Given the description of an element on the screen output the (x, y) to click on. 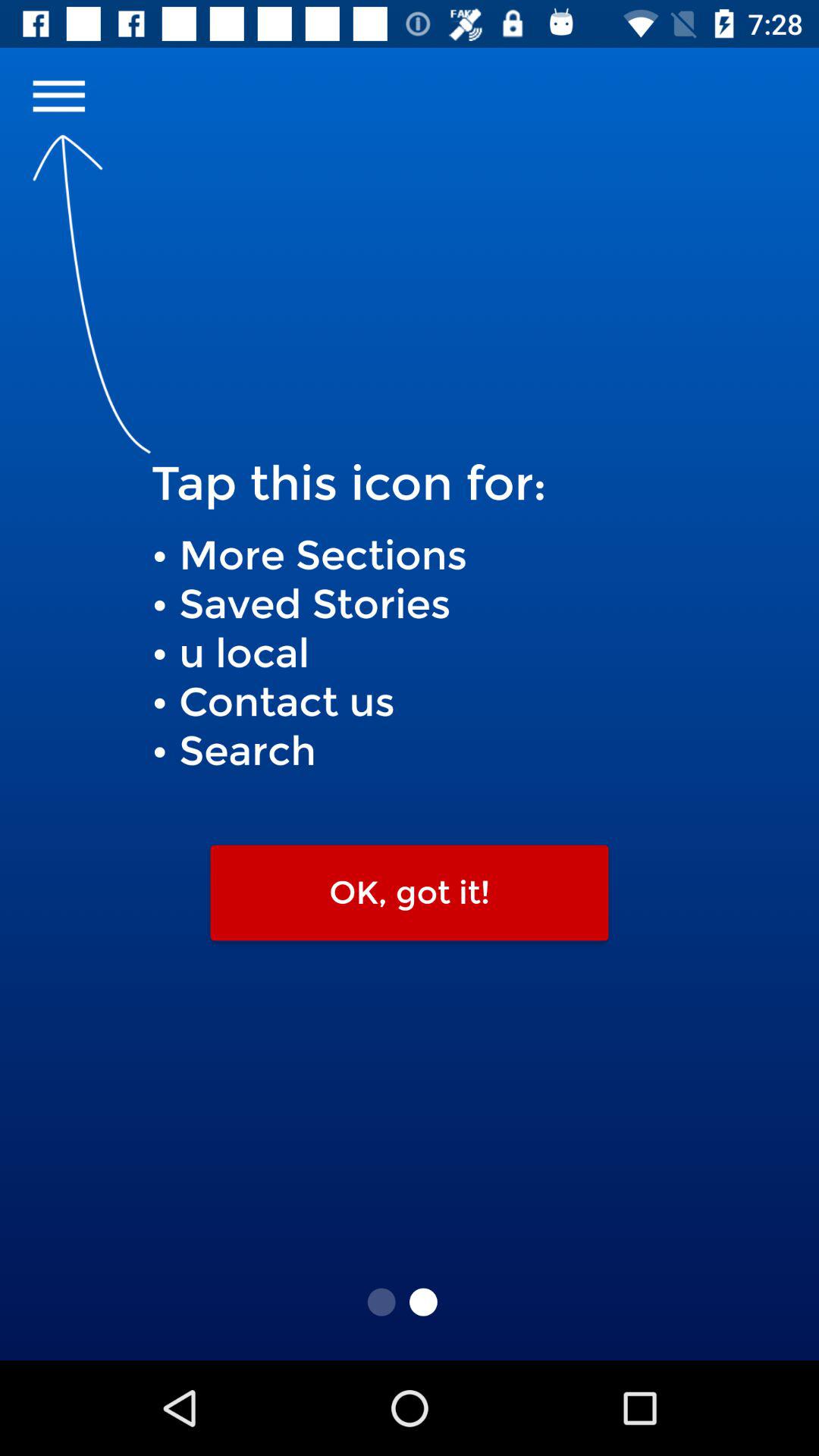
swipe to ok, got it! icon (409, 892)
